Given the description of an element on the screen output the (x, y) to click on. 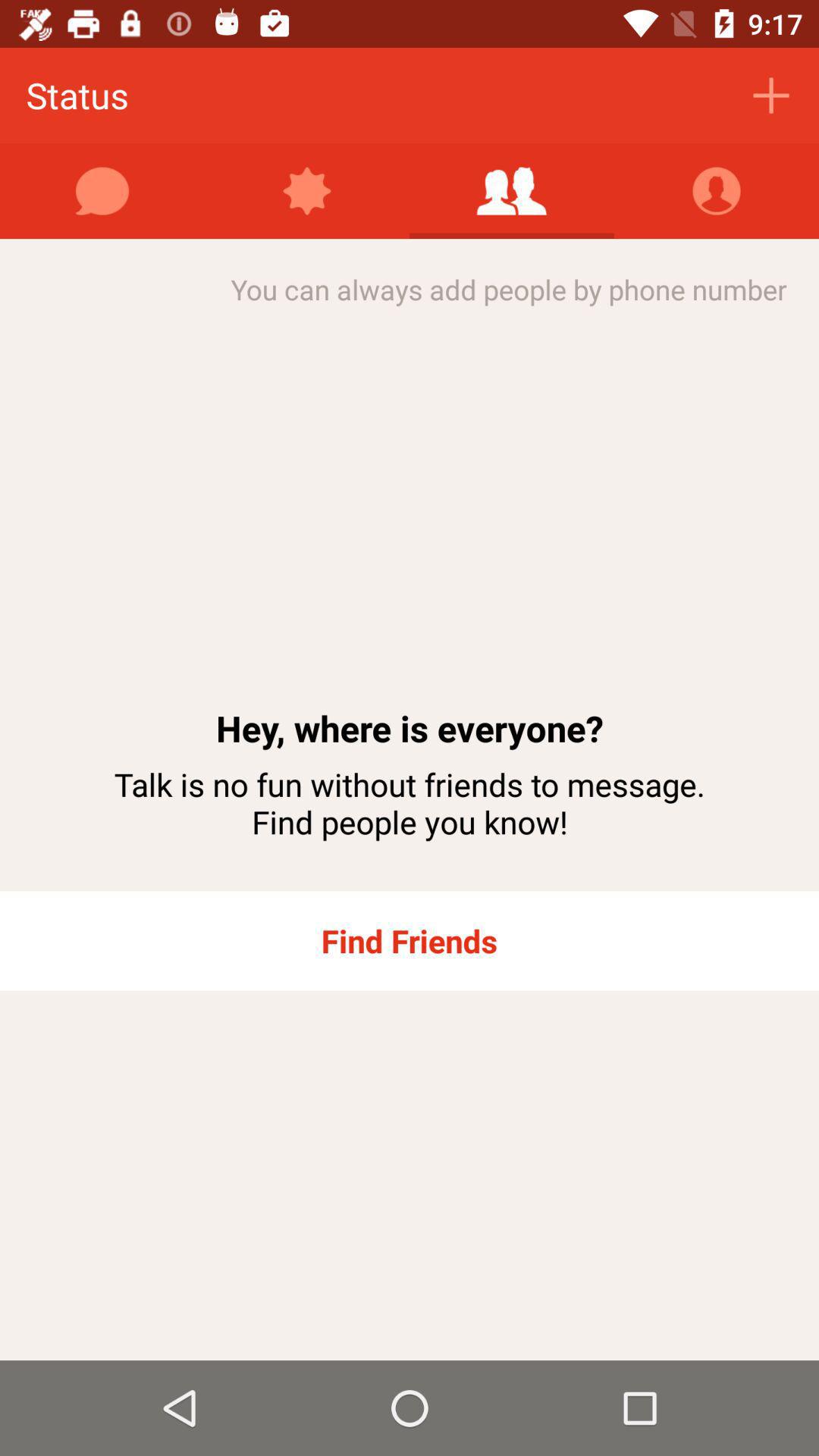
open chat window (102, 190)
